Given the description of an element on the screen output the (x, y) to click on. 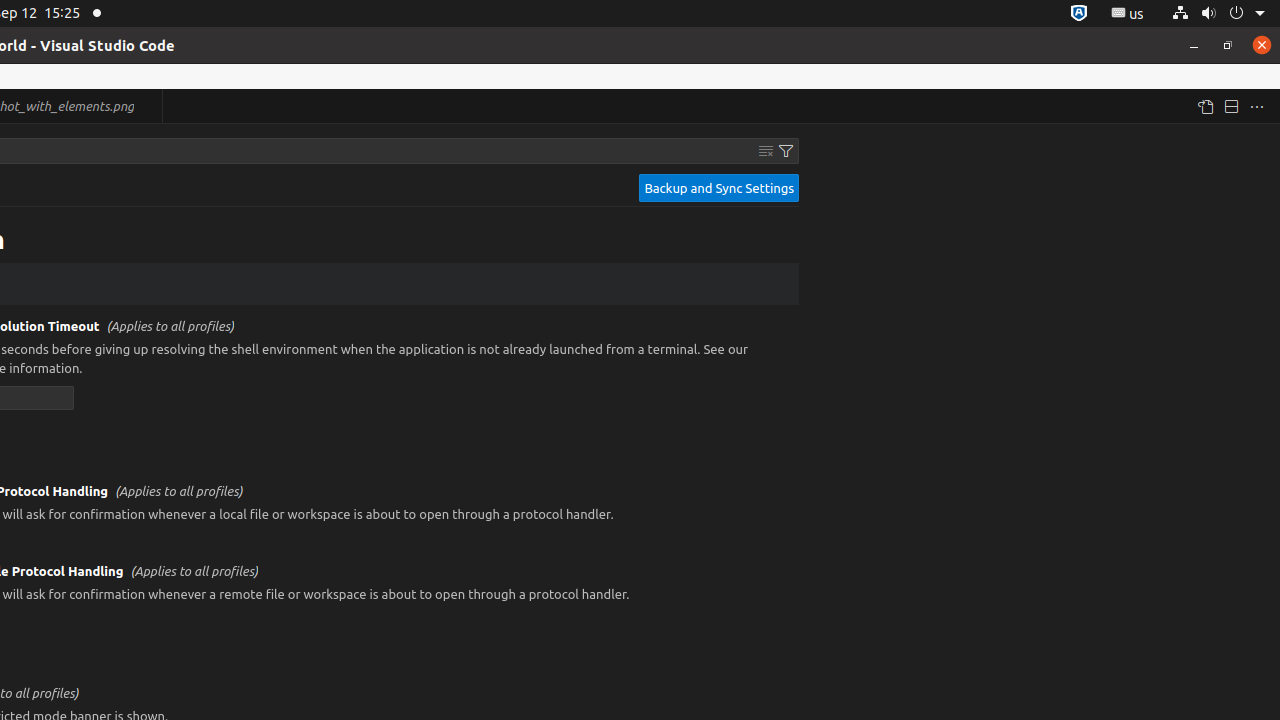
Clear Settings Search Input Element type: push-button (766, 151)
Filter Settings Element type: push-button (786, 151)
Open Settings (JSON) Element type: push-button (1205, 106)
Backup and Sync Settings Element type: push-button (719, 188)
